Given the description of an element on the screen output the (x, y) to click on. 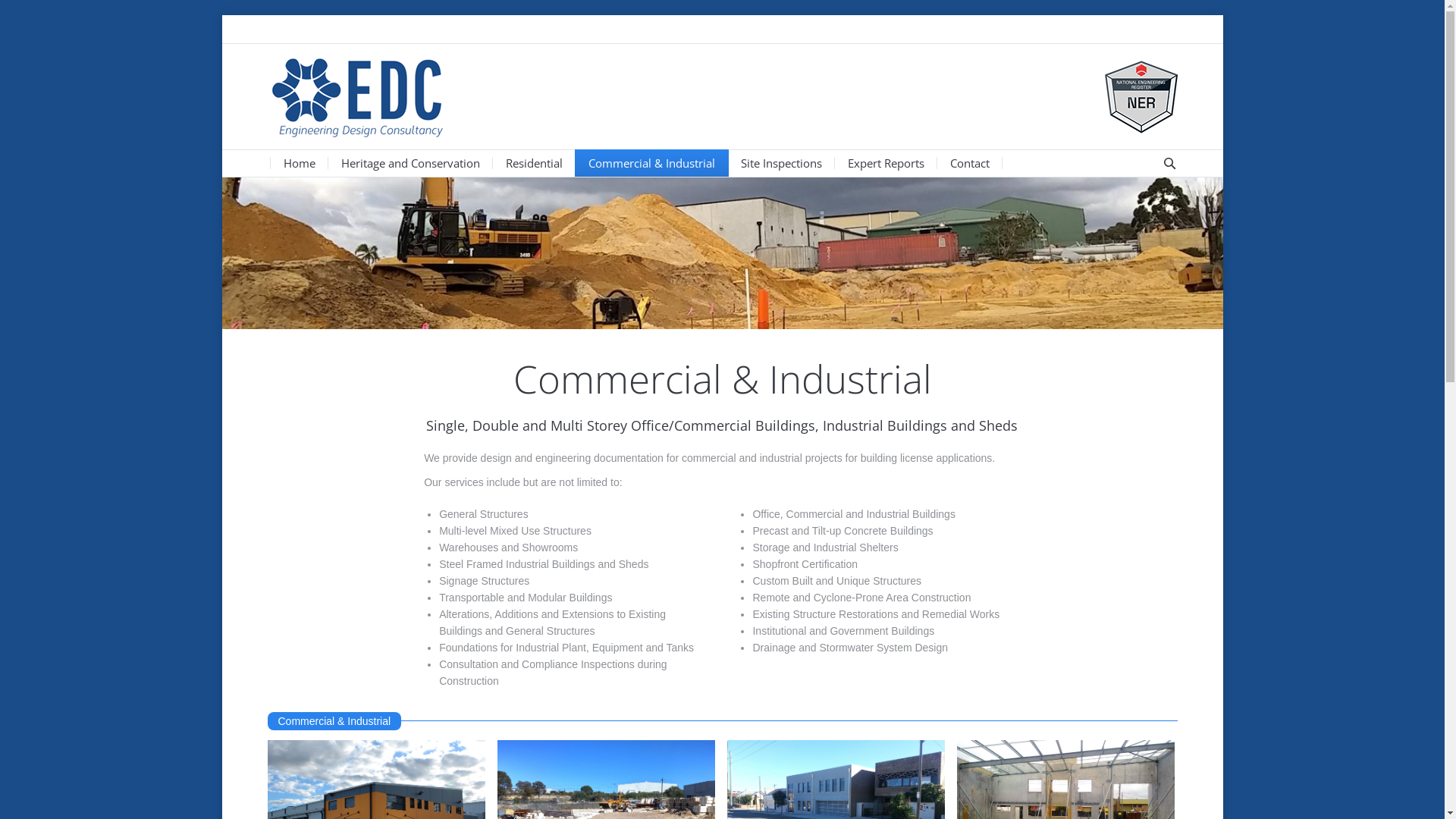
Expert Reports Element type: text (886, 162)
Commercial & Industrial Element type: text (651, 162)
Heritage and Conservation Element type: text (410, 162)
Go! Element type: text (16, 9)
Home Element type: text (299, 162)
Residential Element type: text (533, 162)
Site Inspections Element type: text (780, 162)
Contact Element type: text (968, 162)
